Given the description of an element on the screen output the (x, y) to click on. 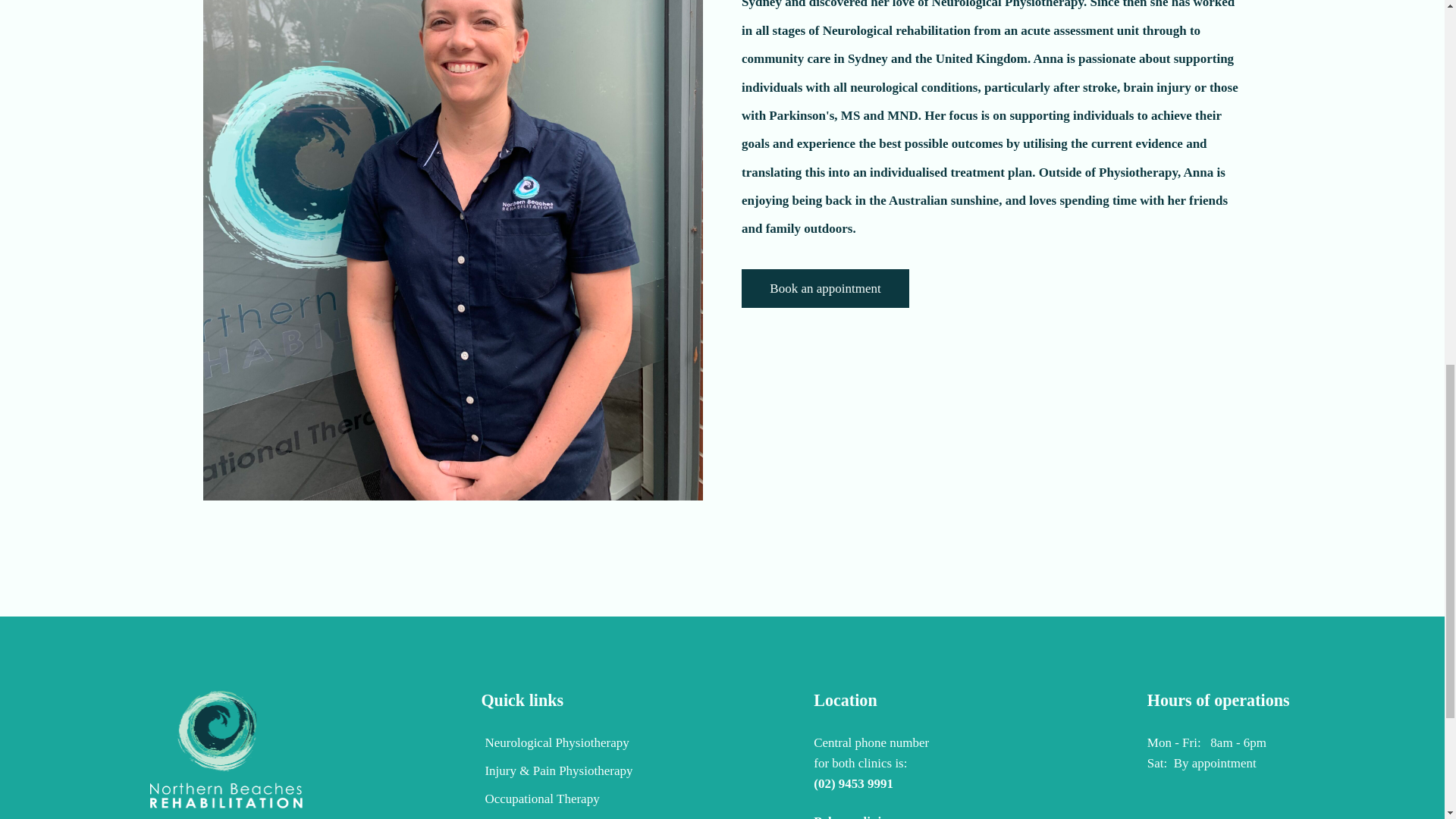
Occupational Therapy (555, 802)
Psychology (555, 817)
Book an appointment (824, 288)
Neurological Physiotherapy (555, 746)
